Given the description of an element on the screen output the (x, y) to click on. 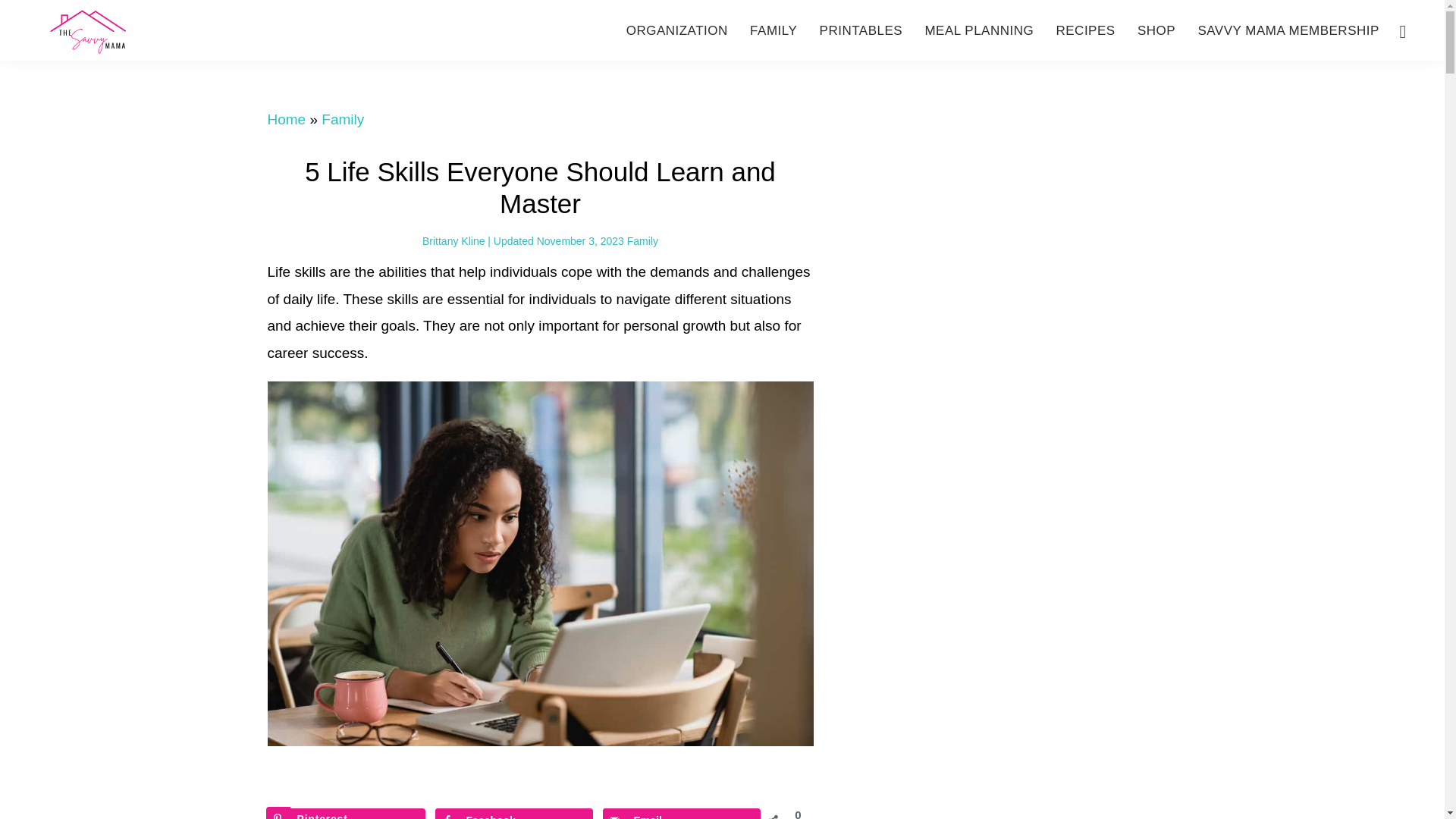
PRINTABLES (861, 30)
SAVVY MAMA MEMBERSHIP (1287, 30)
ORGANIZATION (676, 30)
Share on Facebook (513, 813)
THE SAVVY MAMA (143, 31)
FAMILY (773, 30)
SHOP (1156, 30)
Home (285, 119)
Send over email (681, 813)
MEAL PLANNING (978, 30)
Facebook (513, 813)
Family (342, 119)
Email (681, 813)
